Given the description of an element on the screen output the (x, y) to click on. 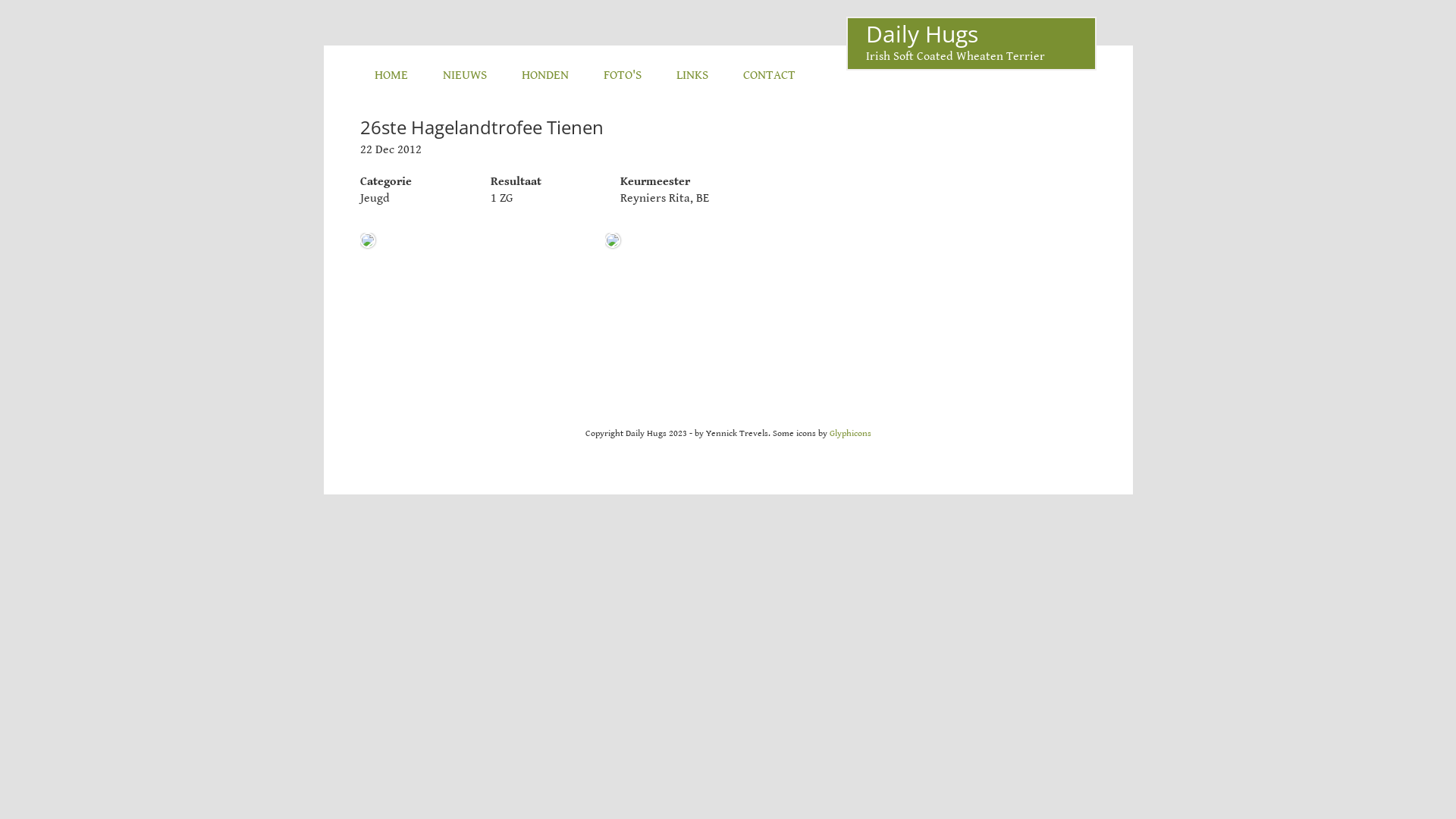
NIEUWS Element type: text (463, 74)
FOTO'S Element type: text (621, 74)
CONTACT Element type: text (768, 74)
HOME Element type: text (390, 74)
HONDEN Element type: text (544, 74)
Glyphicons Element type: text (850, 433)
LINKS Element type: text (691, 74)
